Given the description of an element on the screen output the (x, y) to click on. 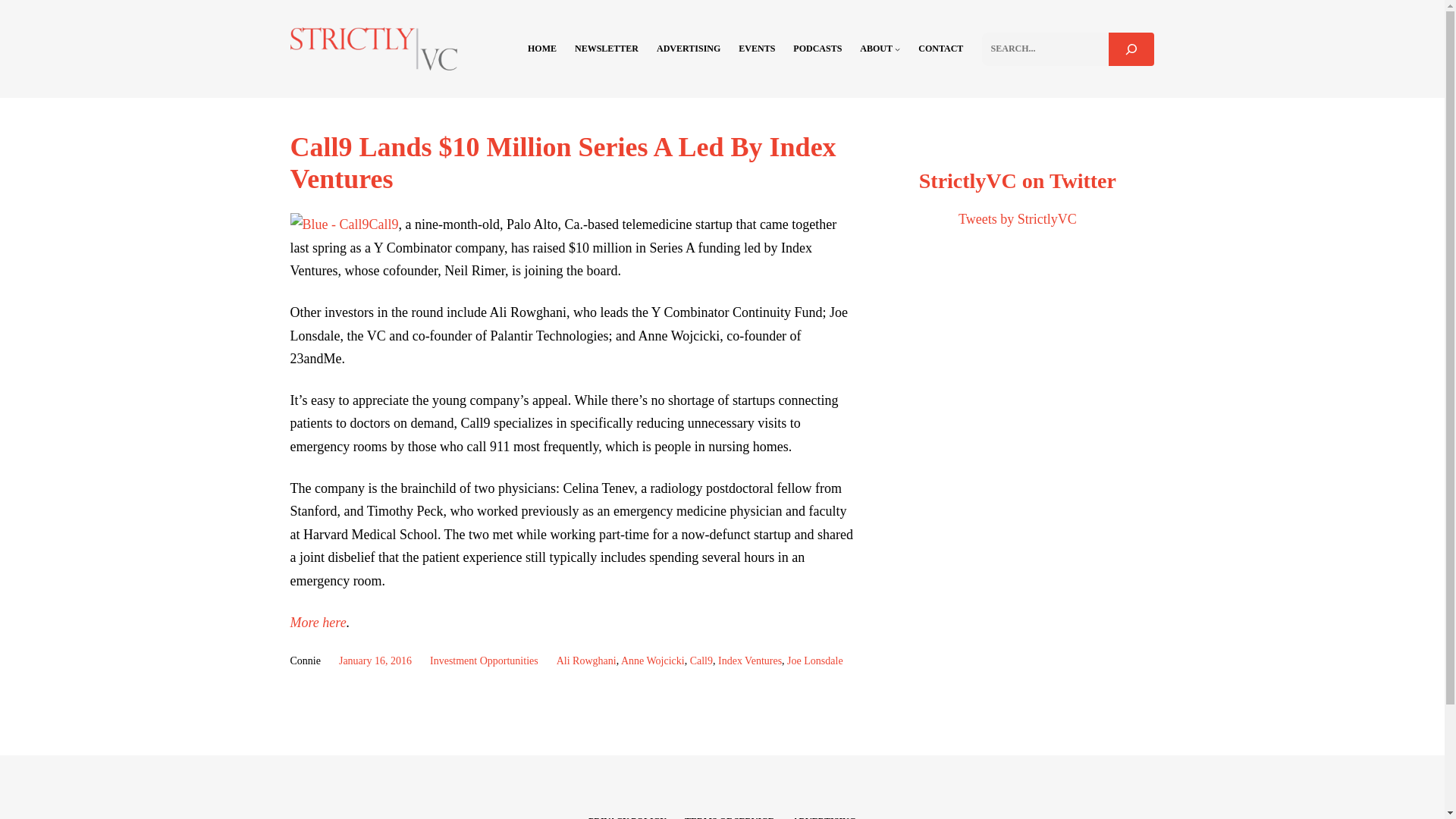
Call9 (701, 660)
EVENTS (756, 48)
ADVERTISING (824, 817)
TERMS OF SERVICE (729, 817)
NEWSLETTER (607, 48)
More here (317, 621)
Tweets by StrictlyVC (1017, 218)
Investment Opportunities (483, 660)
Call9 (382, 224)
CONTACT (940, 48)
